Given the description of an element on the screen output the (x, y) to click on. 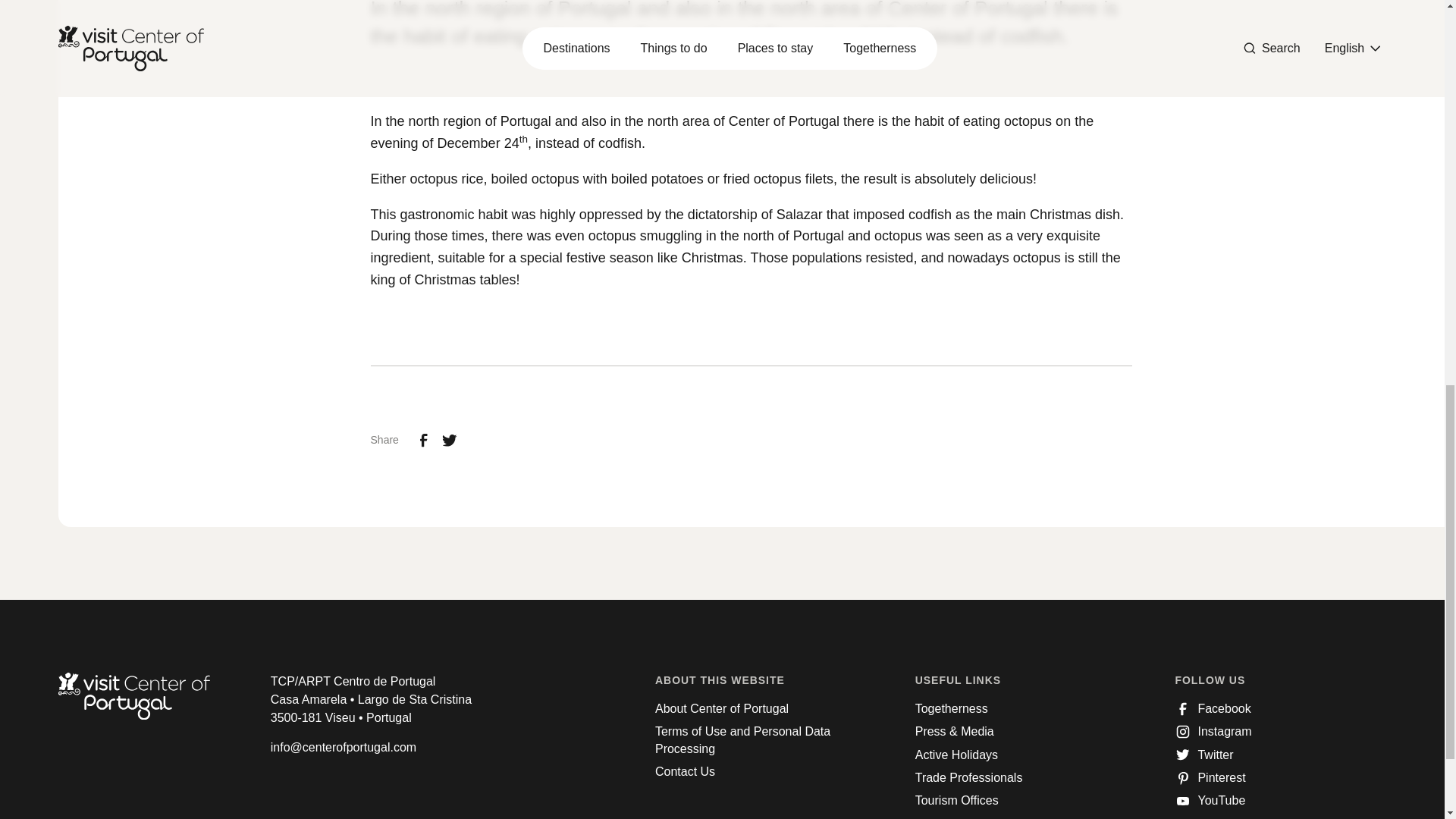
Active Holidays (956, 754)
Instagram (1212, 731)
Terms of Use and Personal Data Processing (760, 740)
About Center of Portugal (722, 709)
Twitter (1203, 754)
Trade Professionals (969, 777)
Contact Us (684, 771)
YouTube (1209, 800)
Tourism Offices (956, 800)
Facebook (1212, 709)
Togetherness (951, 709)
Pinterest (1209, 777)
